Given the description of an element on the screen output the (x, y) to click on. 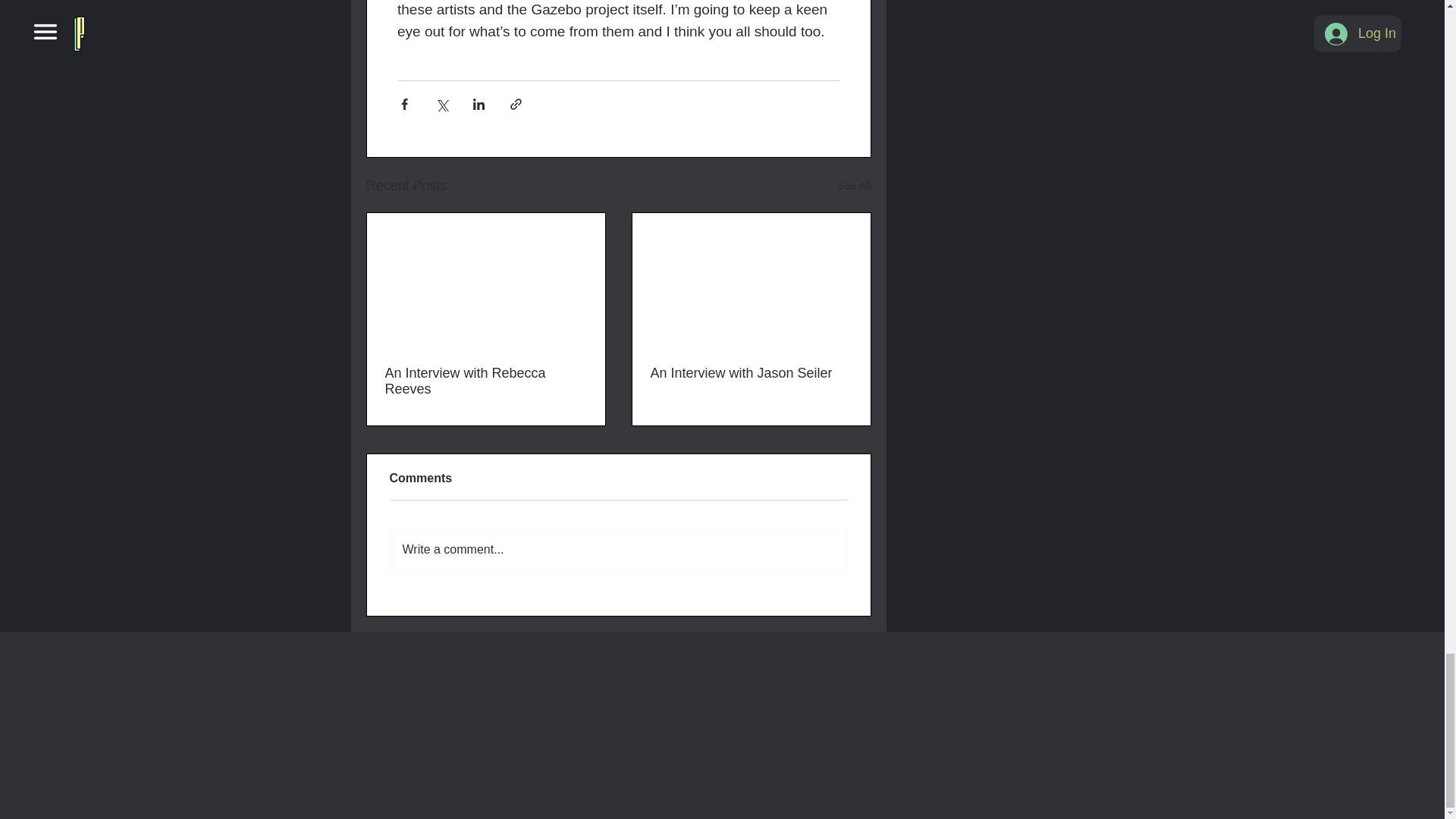
Write a comment... (617, 549)
An Interview with Rebecca Reeves (485, 381)
See All (854, 186)
An Interview with Jason Seiler (750, 373)
